Given the description of an element on the screen output the (x, y) to click on. 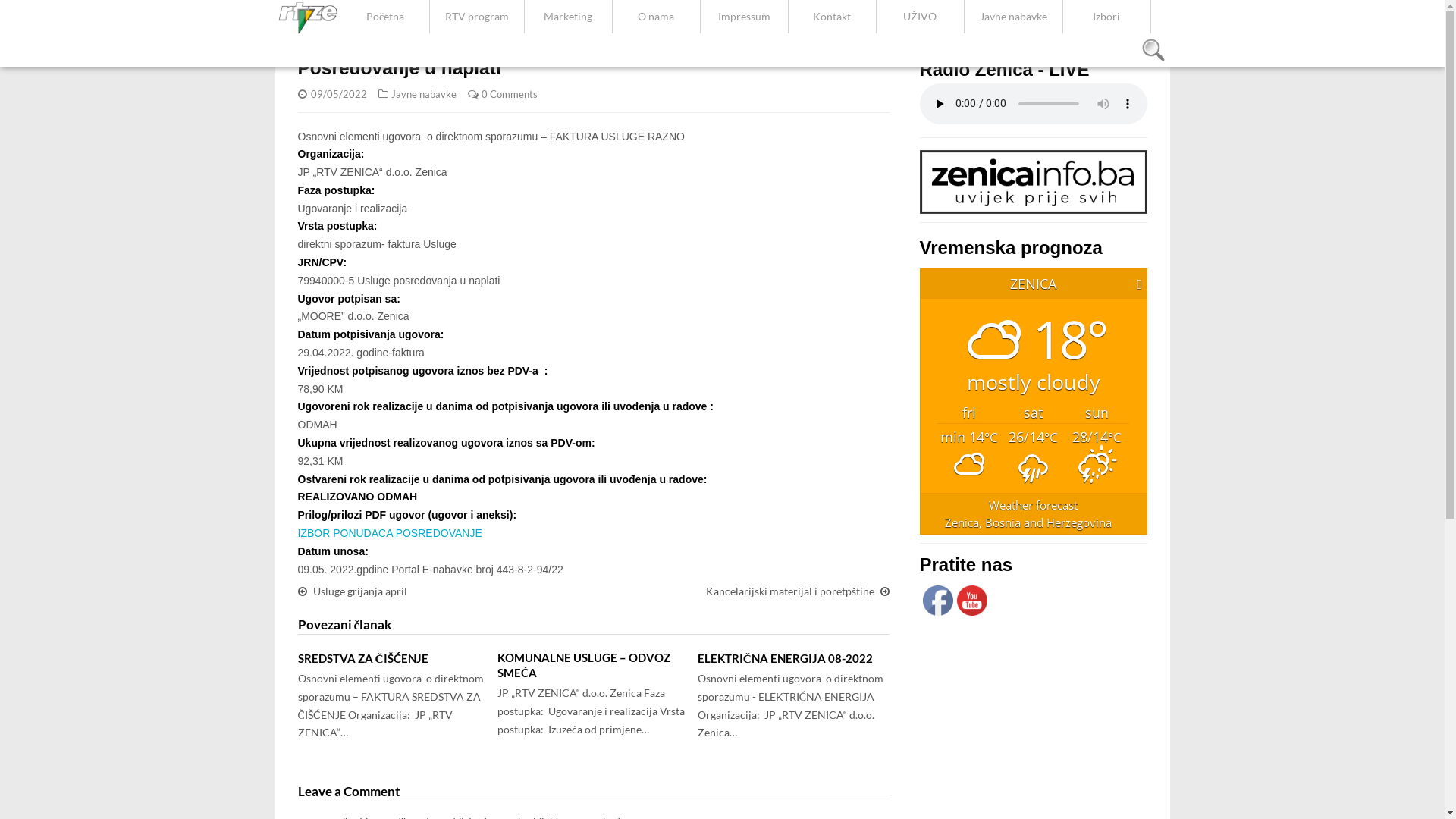
YouTube Element type: hover (972, 600)
Marketing Element type: text (567, 16)
Javne nabavke Element type: text (1013, 16)
RTV program Element type: text (476, 16)
Izbori Element type: text (1106, 16)
Impressum Element type: text (743, 16)
Usluge grijanja april Element type: text (359, 591)
Kontakt Element type: text (831, 16)
0 Comments Element type: text (508, 93)
Facebook Element type: hover (937, 600)
Pretraga Element type: hover (1152, 49)
IZBOR PONUDACA POSREDOVANJE Element type: text (389, 533)
Javne nabavke Element type: text (423, 93)
O nama Element type: text (655, 16)
